Given the description of an element on the screen output the (x, y) to click on. 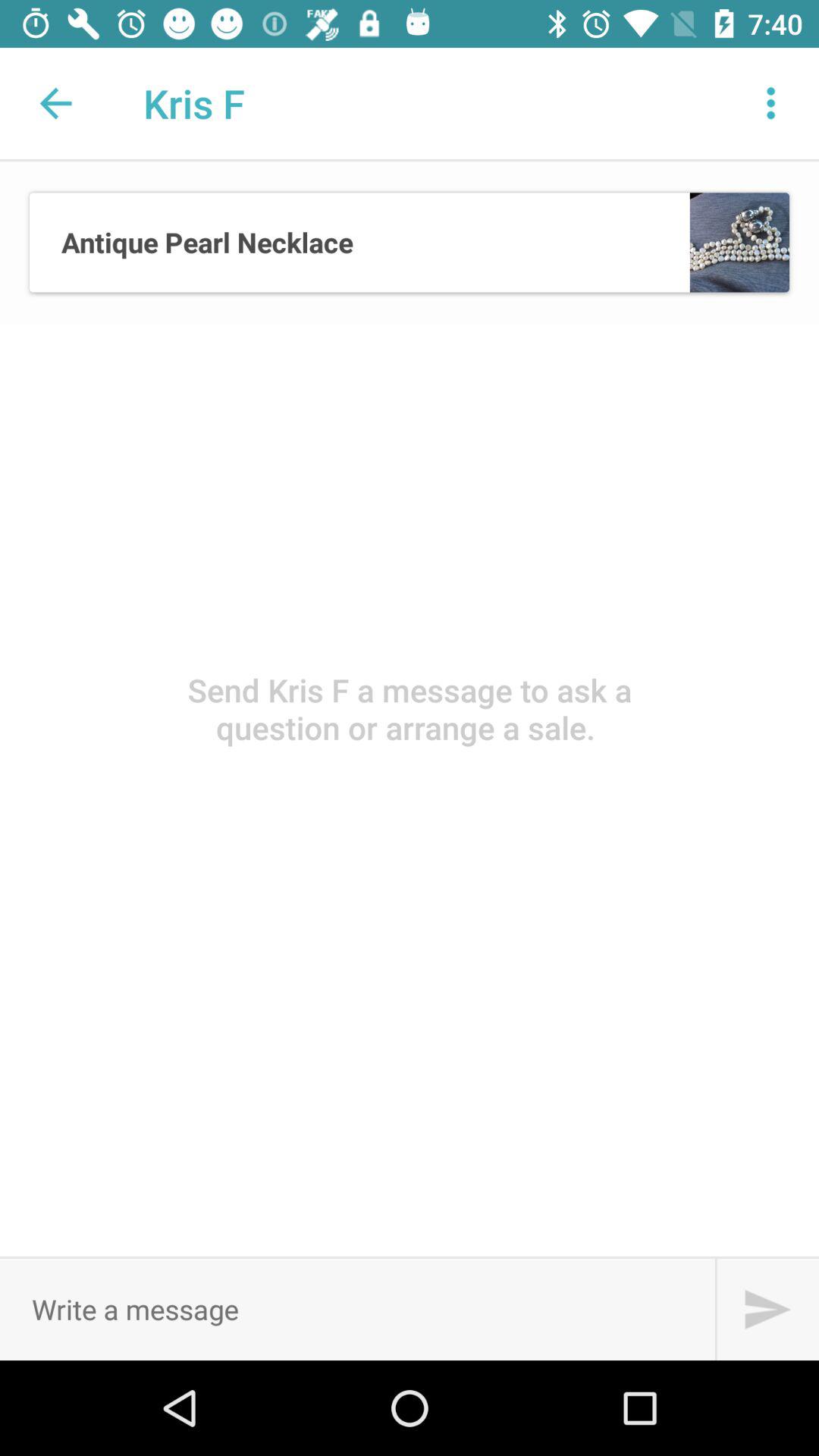
turn on item to the left of the kris f (55, 103)
